Given the description of an element on the screen output the (x, y) to click on. 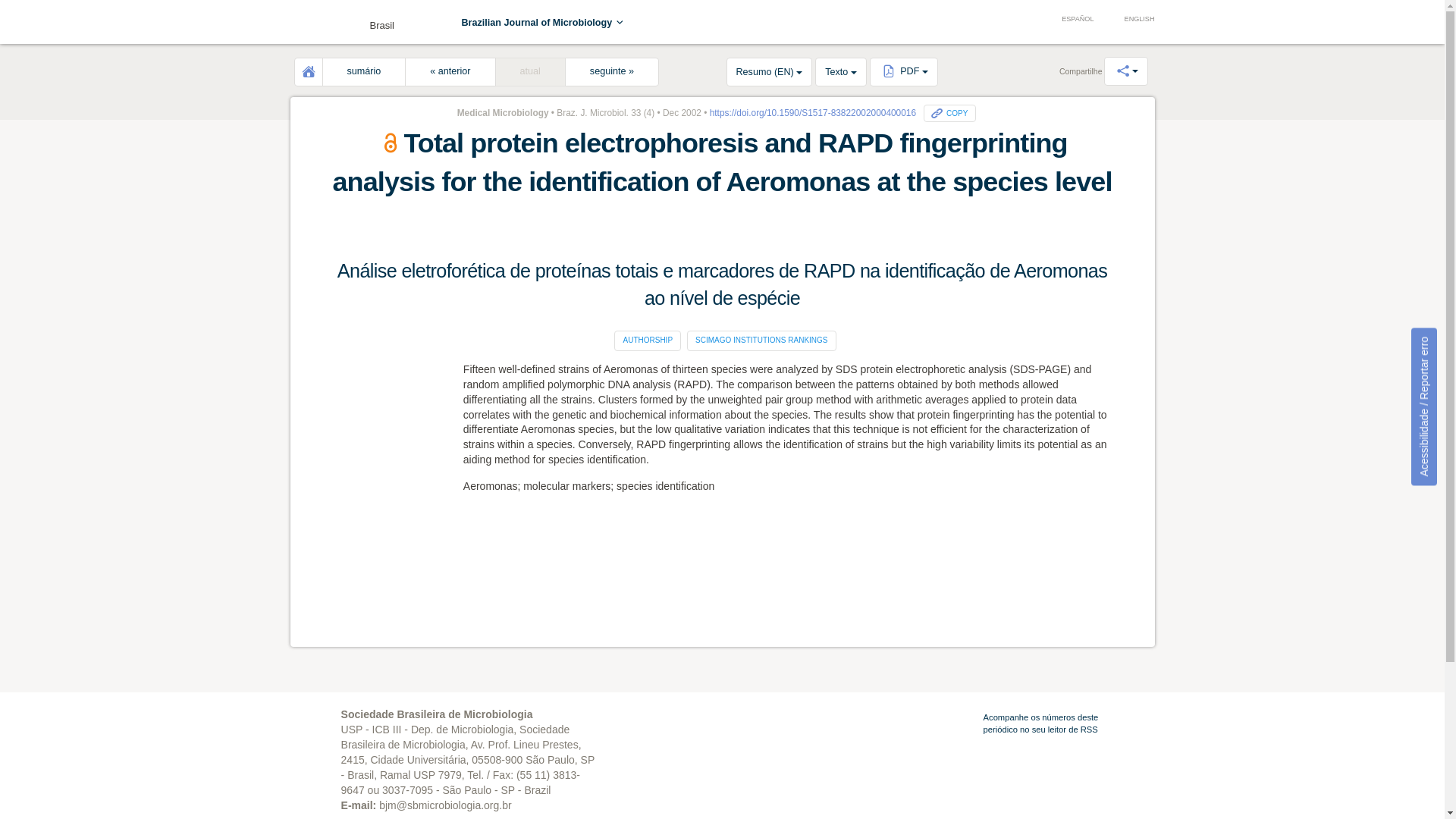
Abrir menu (312, 23)
Brasil (346, 21)
Abrir menu (312, 23)
ENGLISH (1131, 19)
Brazilian Journal of Microbiology (542, 22)
